Given the description of an element on the screen output the (x, y) to click on. 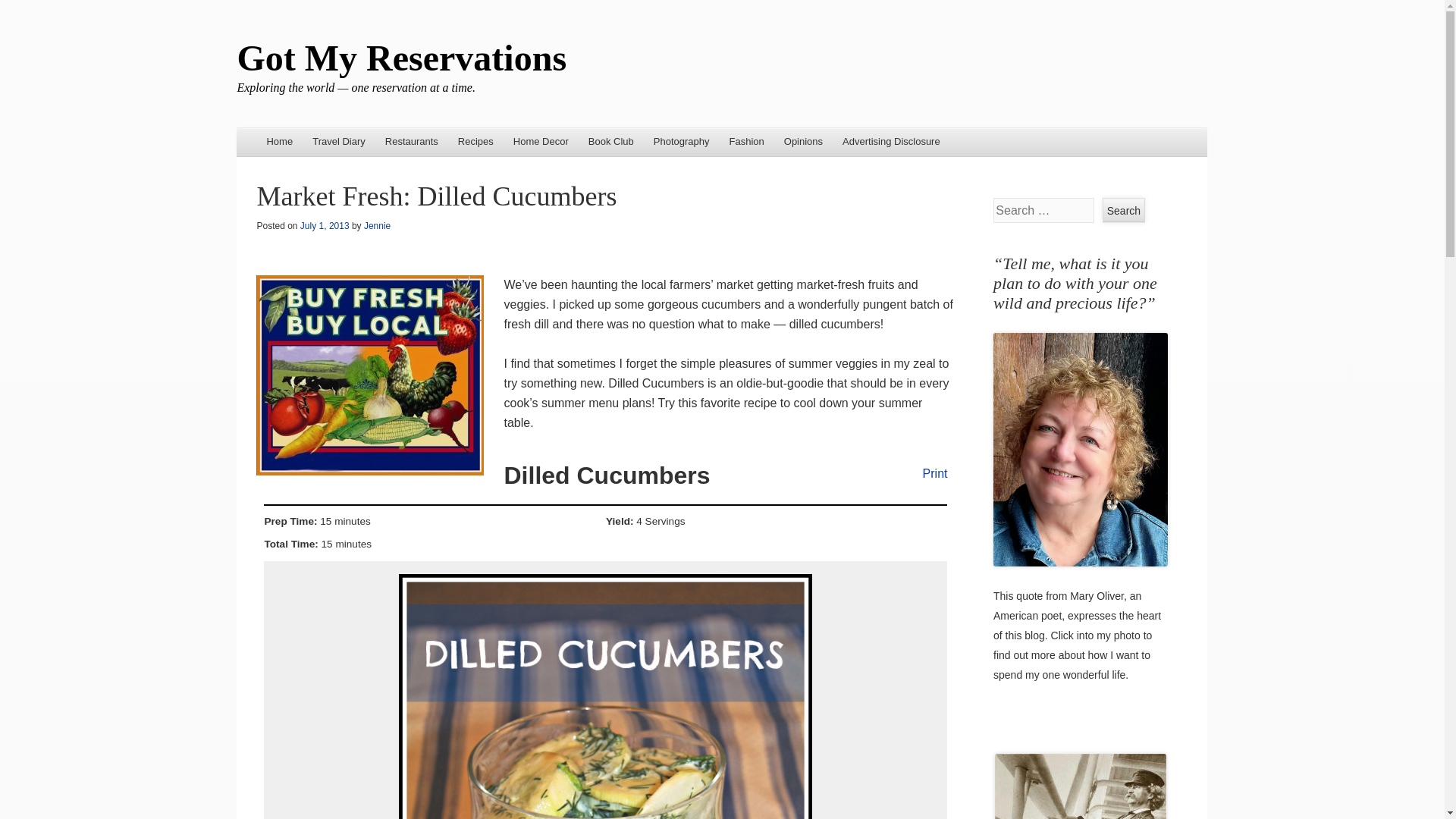
Got My Reservations (400, 57)
Opinions (803, 142)
Search (1123, 210)
Restaurants (411, 142)
Skip to content (278, 142)
Dilled Cucumbers (605, 696)
Home (279, 142)
View all posts by Jennie (377, 225)
Print this recipe (927, 471)
Fashion (746, 142)
Photography (681, 142)
Advertising Disclosure (891, 142)
Print (927, 471)
Book Club (610, 142)
Recipes (475, 142)
